Given the description of an element on the screen output the (x, y) to click on. 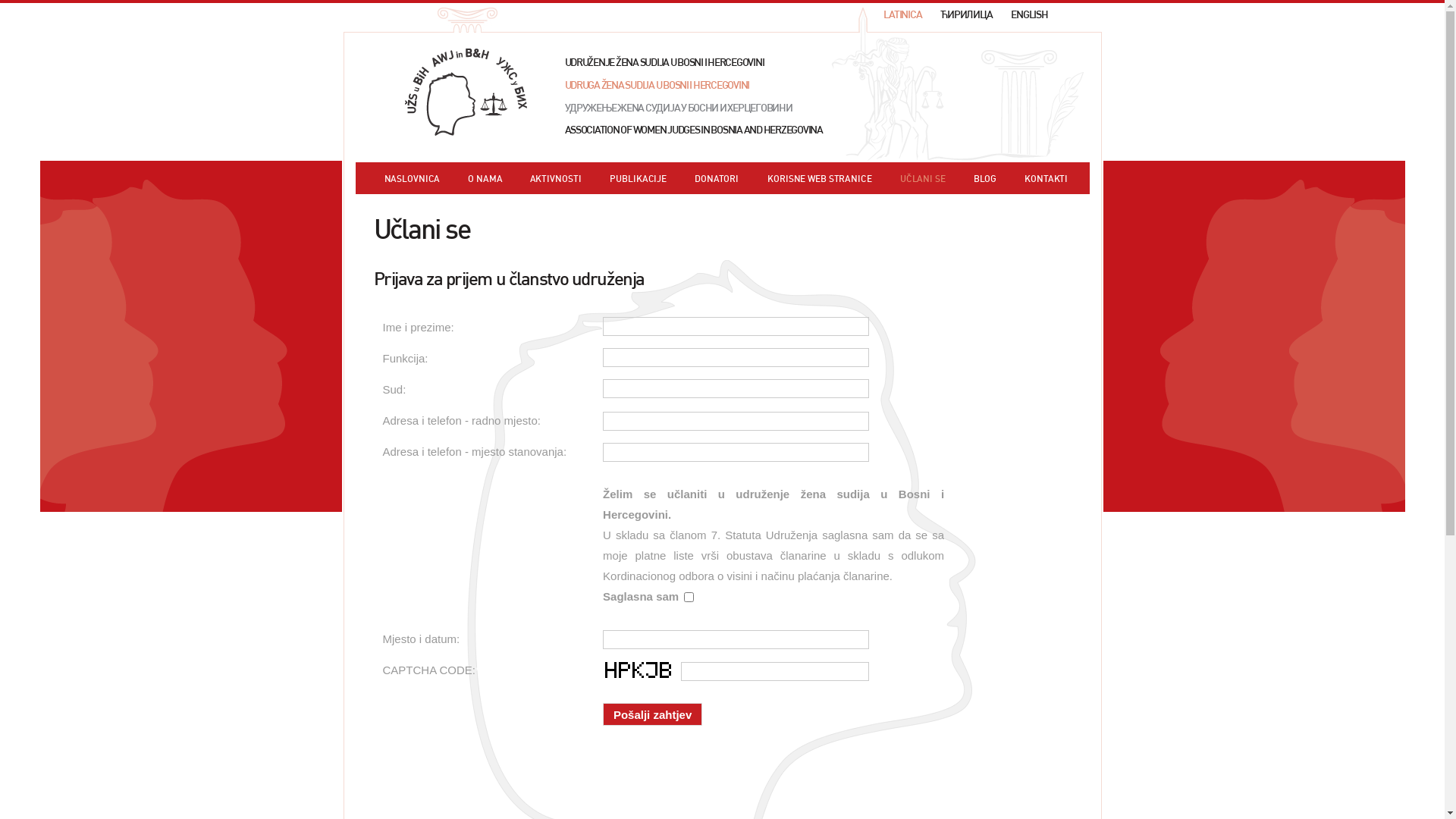
PUBLIKACIJE Element type: text (637, 178)
ENGLISH Element type: text (1028, 14)
DONATORI Element type: text (716, 178)
O NAMA Element type: text (484, 178)
LATINICA Element type: text (902, 14)
AKTIVNOSTI Element type: text (555, 178)
KORISNE WEB STRANICE Element type: text (819, 178)
NASLOVNICA Element type: text (411, 178)
KONTAKTI Element type: text (1045, 178)
BLOG Element type: text (985, 178)
